Given the description of an element on the screen output the (x, y) to click on. 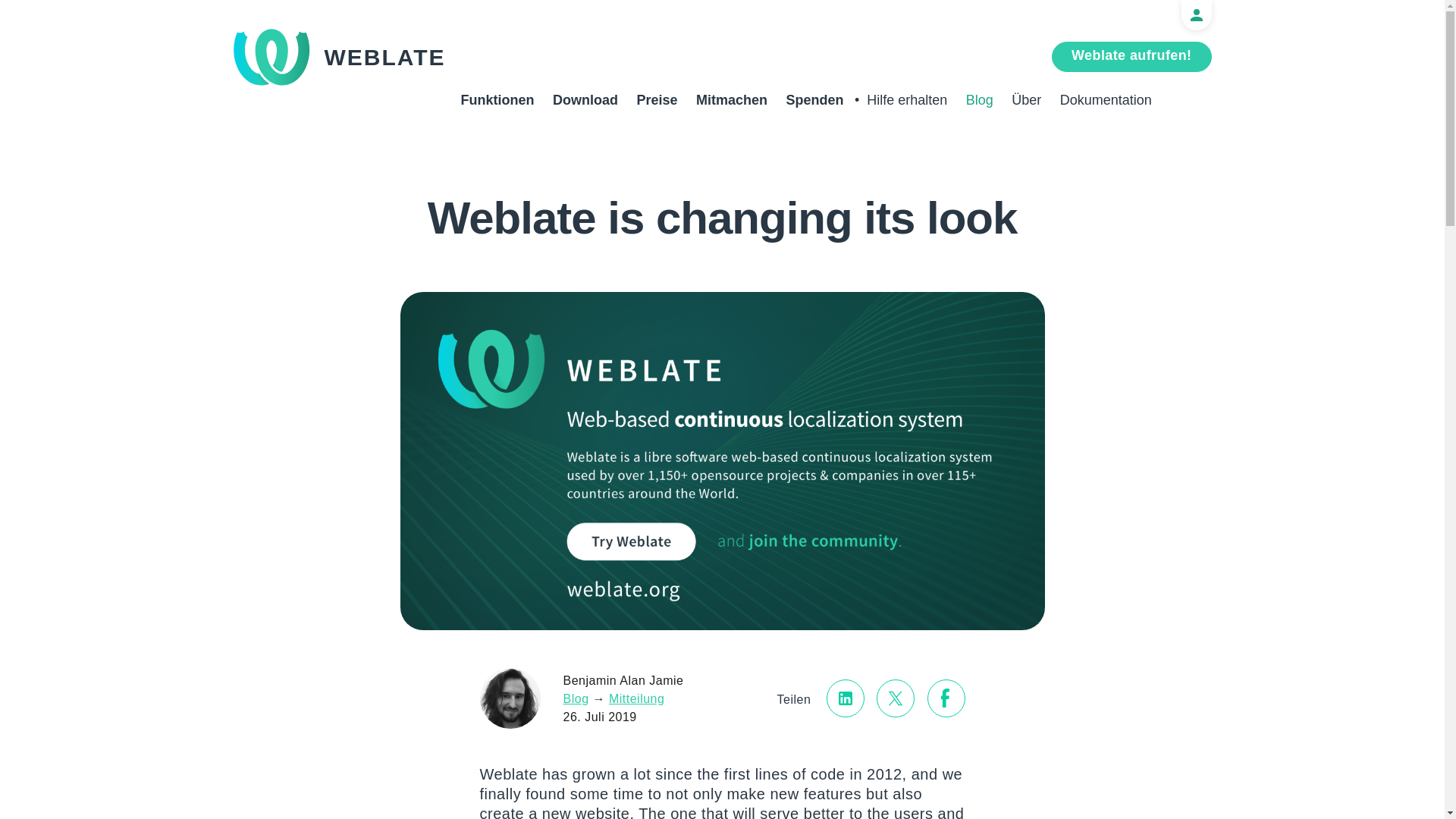
Blog (575, 698)
WEBLATE (338, 56)
Funktionen (496, 104)
Weblate aufrufen! (1131, 56)
Mitmachen (731, 104)
Download (585, 104)
Mitteilung (635, 698)
Preise (656, 104)
Hilfe erhalten (907, 104)
Blog (979, 104)
Dokumentation (1105, 104)
Spenden (813, 104)
